Given the description of an element on the screen output the (x, y) to click on. 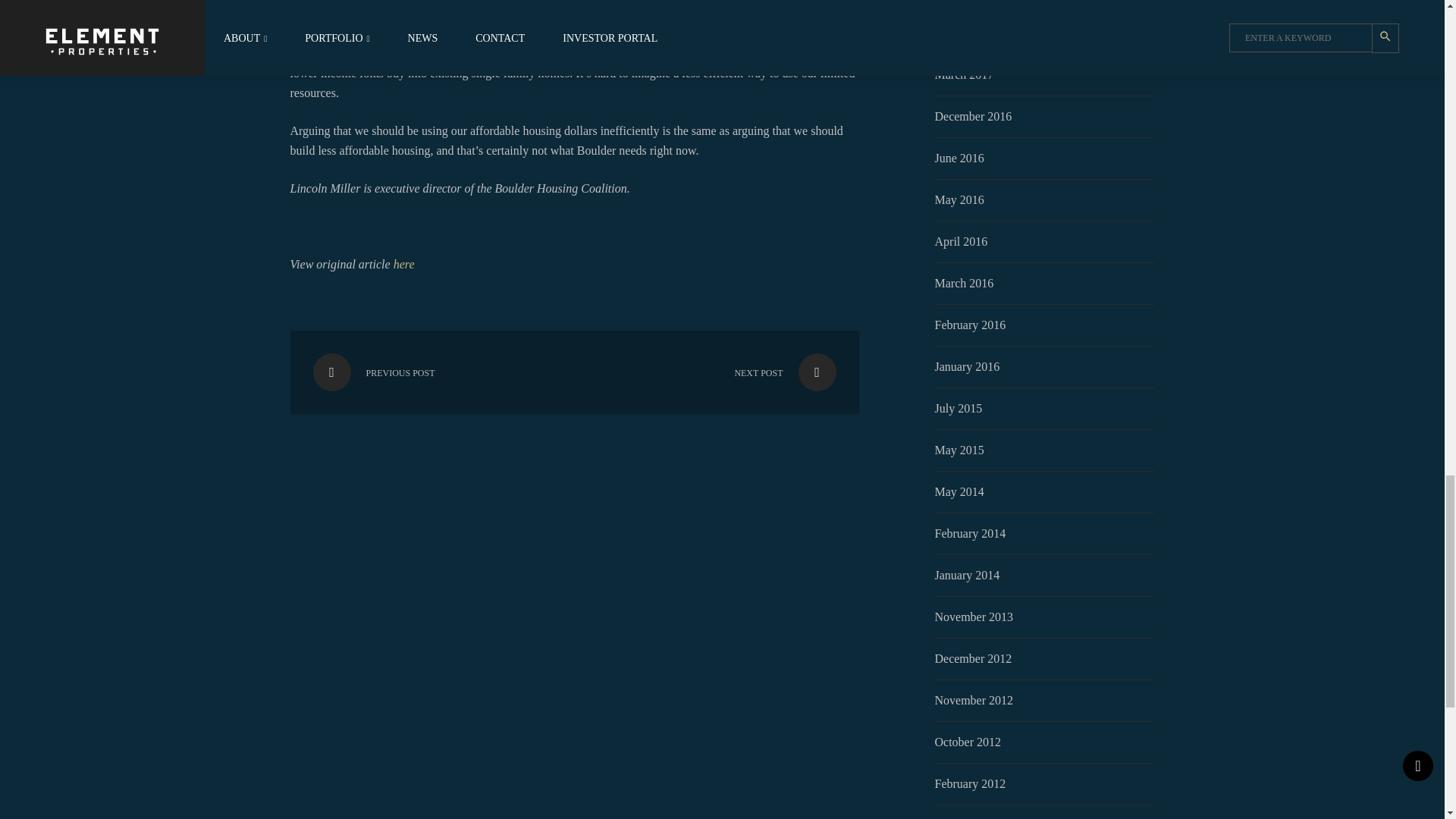
NEXT POST (758, 372)
PREVIOUS POST (399, 372)
here (403, 264)
